Given the description of an element on the screen output the (x, y) to click on. 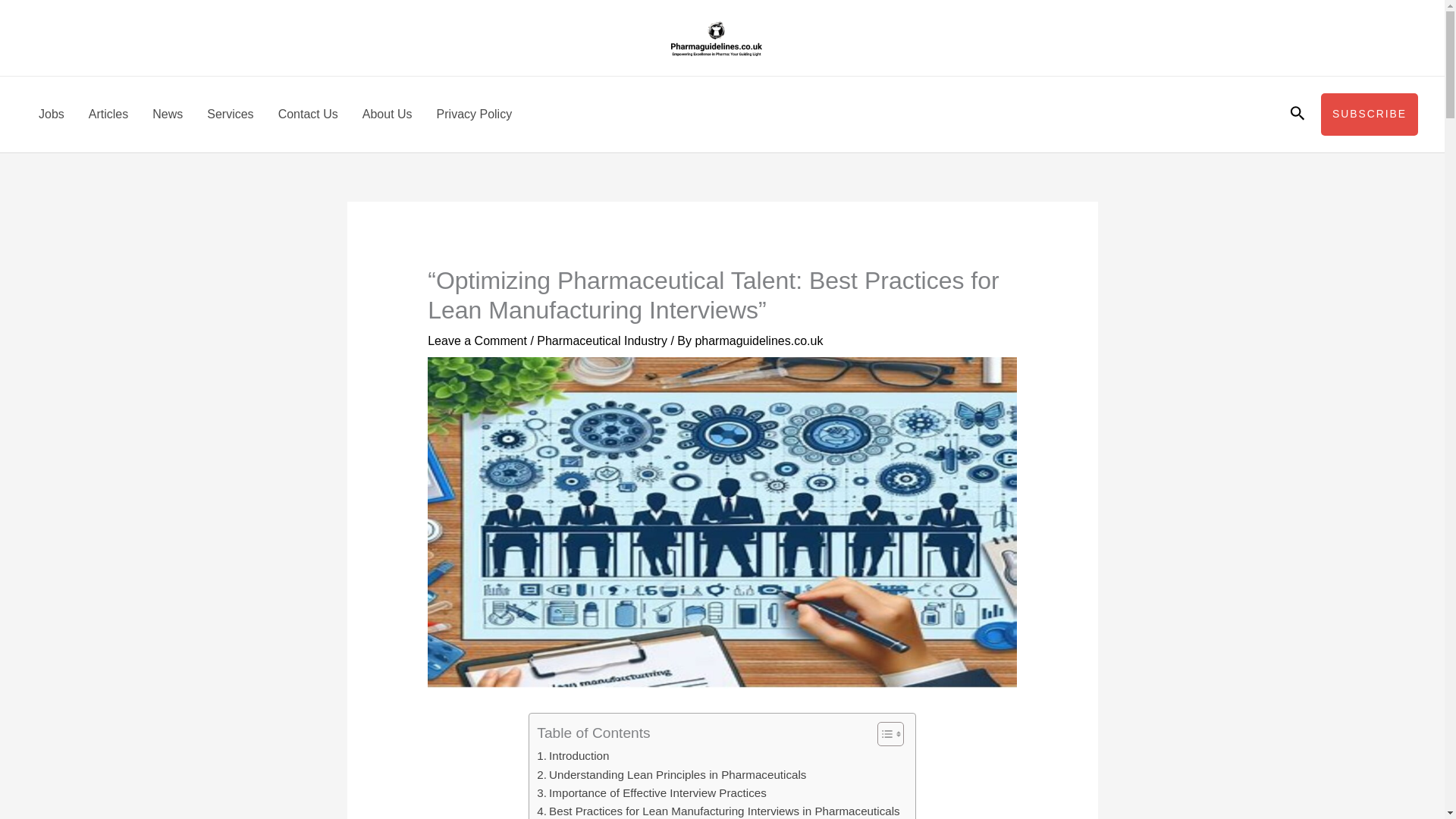
Importance of Effective Interview Practices (651, 792)
Pharmaceutical Industry (601, 340)
Services (229, 114)
Leave a Comment (477, 340)
Introduction (572, 755)
About Us (387, 114)
Privacy Policy (474, 114)
pharmaguidelines.co.uk (758, 340)
View all posts by pharmaguidelines.co.uk (758, 340)
